Given the description of an element on the screen output the (x, y) to click on. 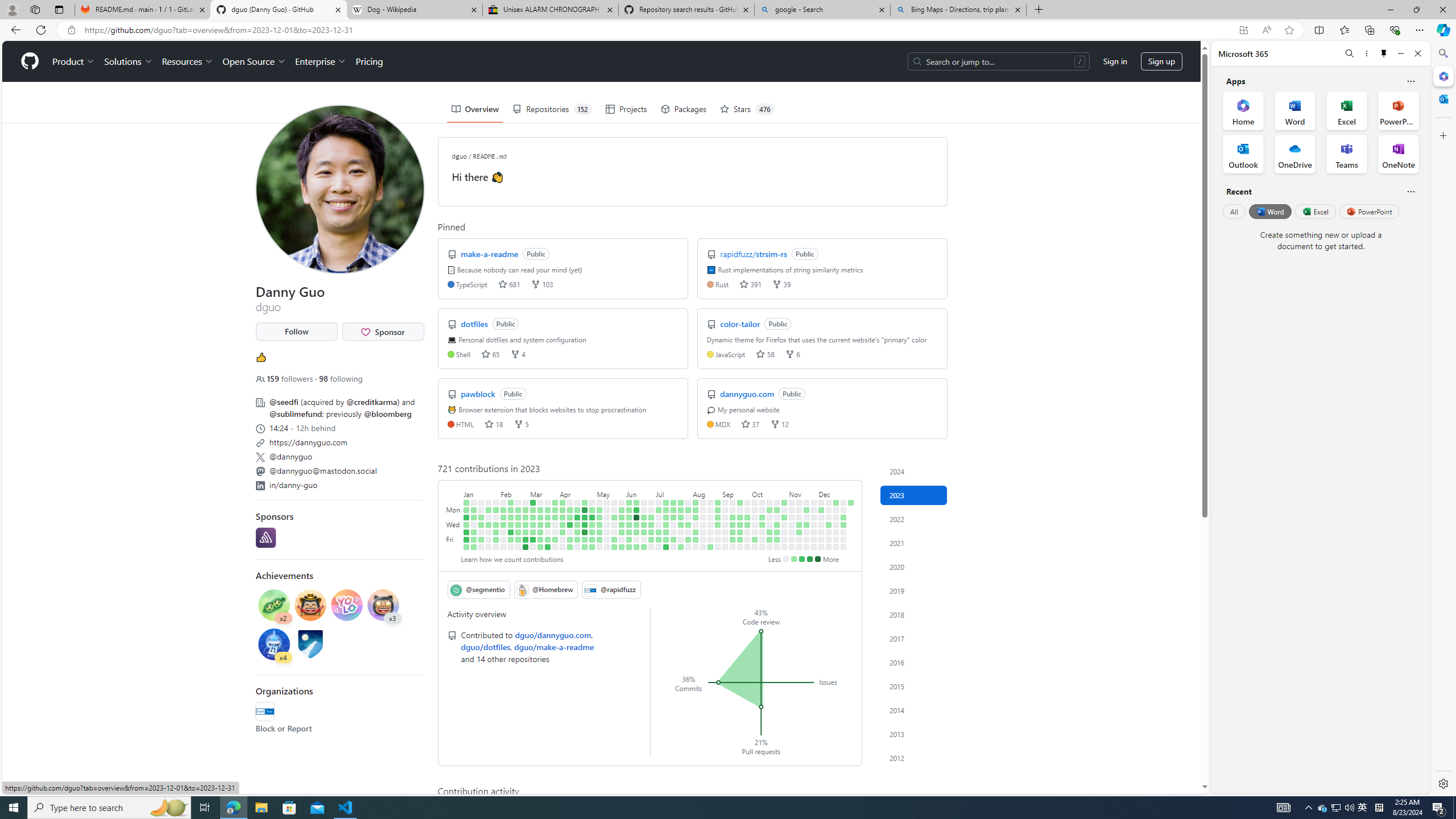
2012 (913, 757)
No contributions on May 20th. (607, 546)
18 contributions on March 4th. (525, 546)
1 contribution on July 13th. (665, 531)
6 contributions on June 15th. (636, 531)
Achievement: Pair Extraordinaire x2 (273, 606)
2 contributions on April 5th. (562, 524)
No contributions on November 5th. (791, 502)
No contributions on August 13th. (703, 502)
@getsentry (264, 537)
2015 (913, 686)
No contributions on December 3rd. (821, 502)
Achievement: Starstruck (382, 605)
No contributions on January 29th. (496, 502)
